Given the description of an element on the screen output the (x, y) to click on. 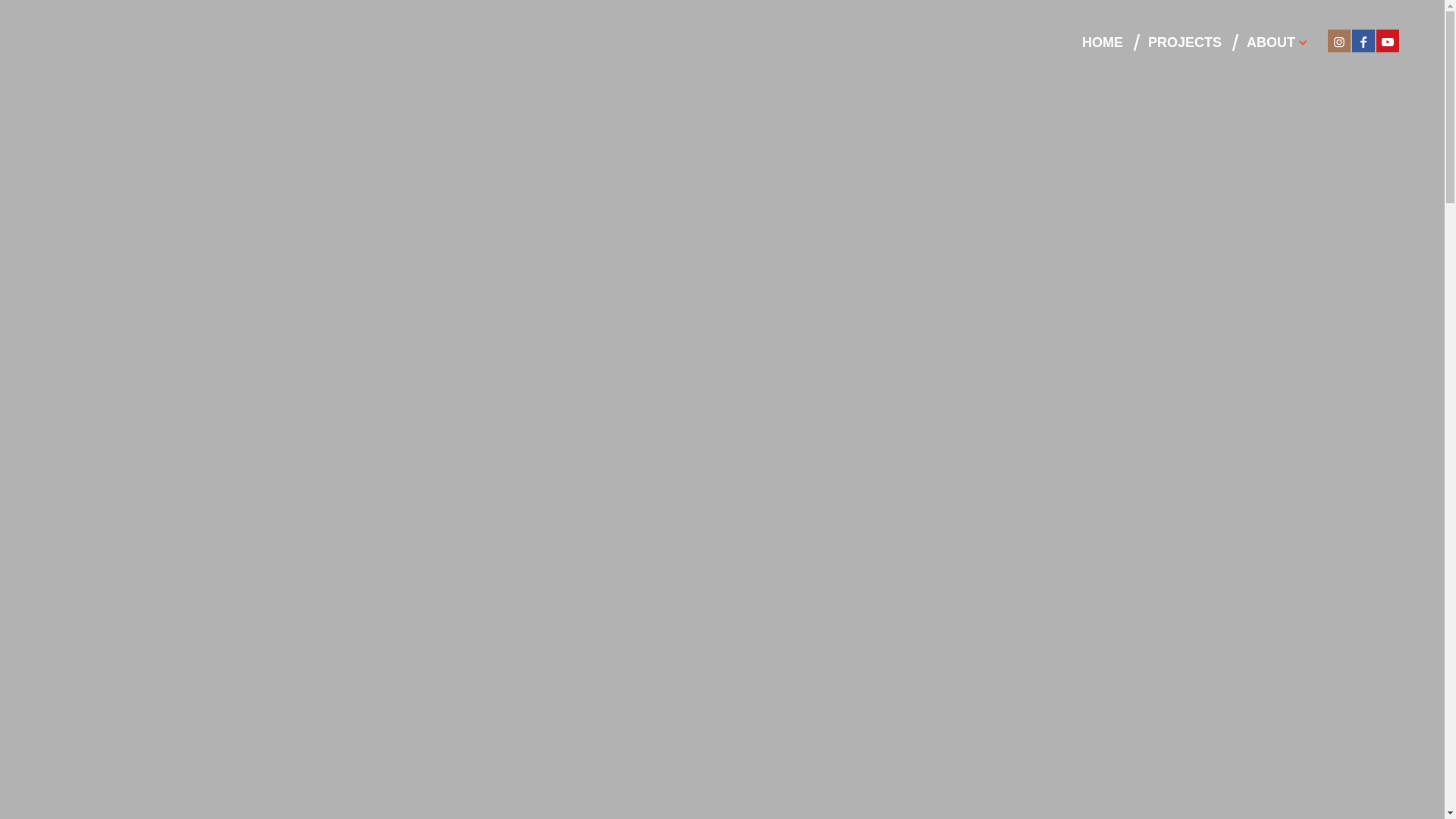
Facebook Element type: hover (1363, 40)
Instagram Element type: hover (1338, 40)
Youtube Element type: hover (1387, 40)
